Given the description of an element on the screen output the (x, y) to click on. 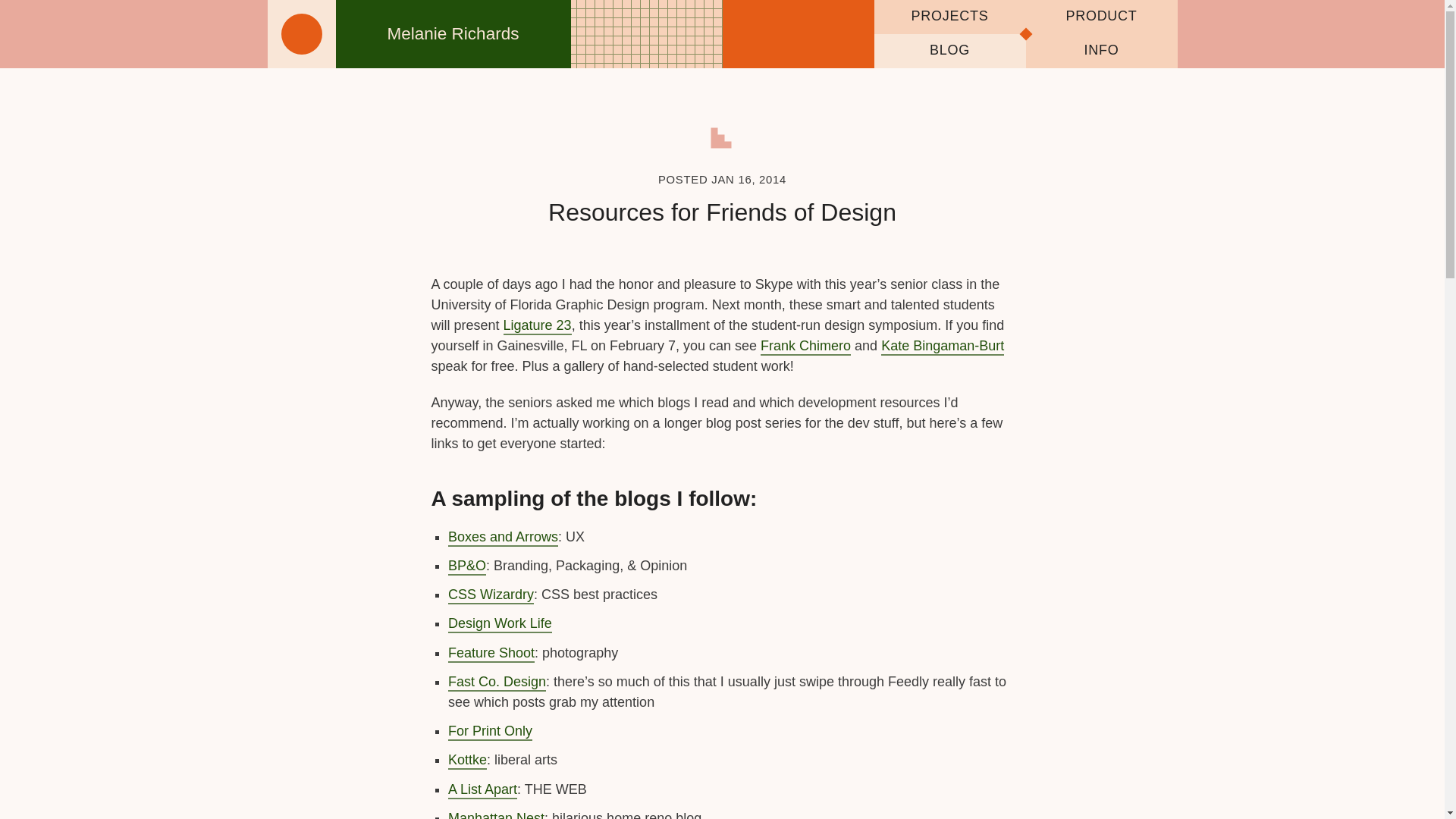
Manhattan Nest (496, 814)
Feature Shoot (491, 653)
Frank Chimero (805, 346)
Kottke (467, 760)
Boxes and Arrows (502, 538)
A List Apart (482, 790)
PRODUCT (1100, 17)
Ligature 23 (537, 325)
Design Work Life (499, 624)
Kate Bingaman-Burt (942, 346)
BLOG (949, 50)
PROJECTS (949, 17)
INFO (1100, 50)
For Print Only (490, 732)
Fast Co. Design (497, 682)
